Given the description of an element on the screen output the (x, y) to click on. 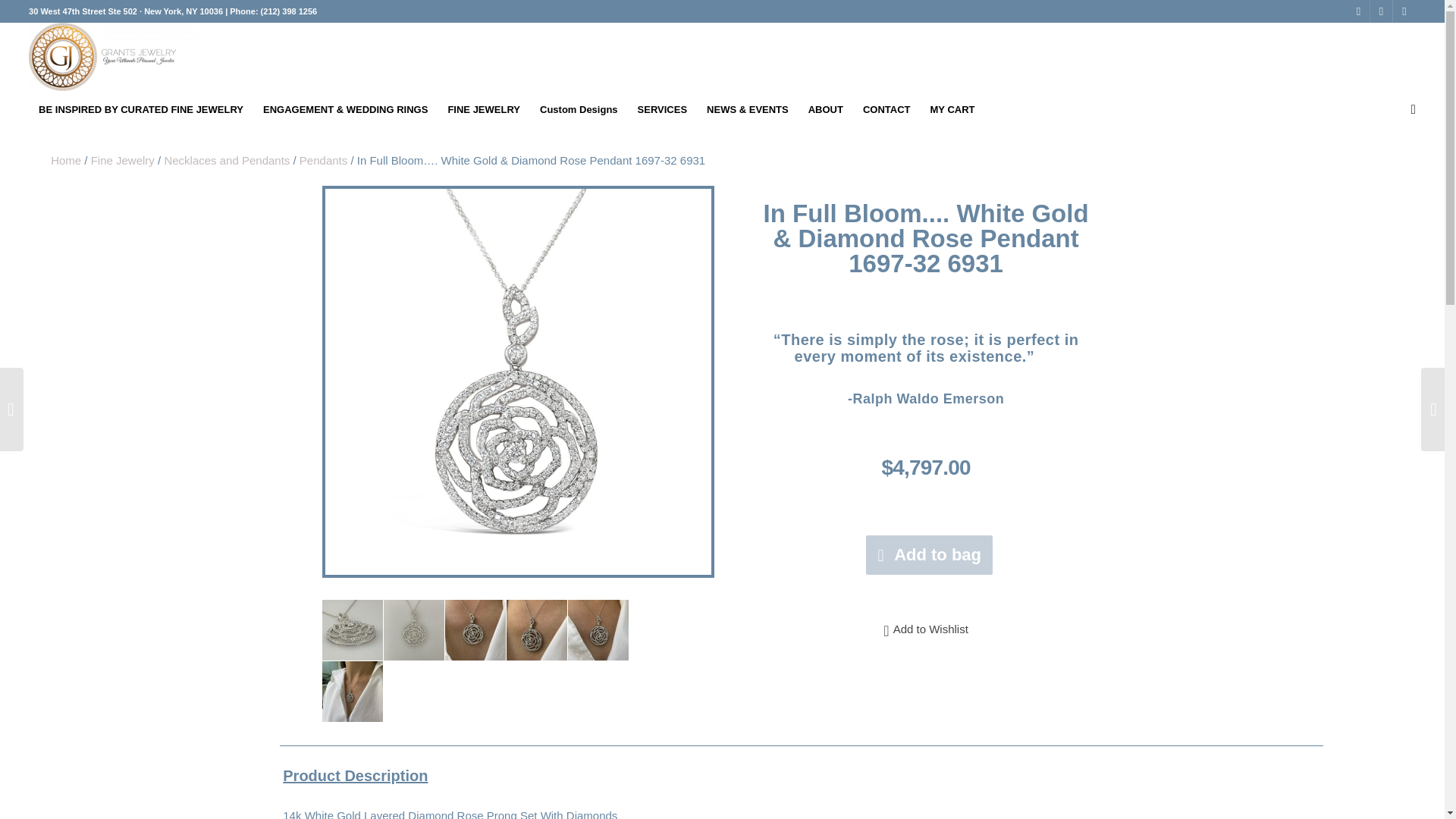
FINE JEWELRY (483, 109)
LinkedIn (1404, 11)
BE INSPIRED BY CURATED FINE JEWELRY (141, 109)
Facebook (1359, 11)
ABOUT (825, 109)
SERVICES (662, 109)
Custom Designs (578, 109)
Instagram (1380, 11)
